Given the description of an element on the screen output the (x, y) to click on. 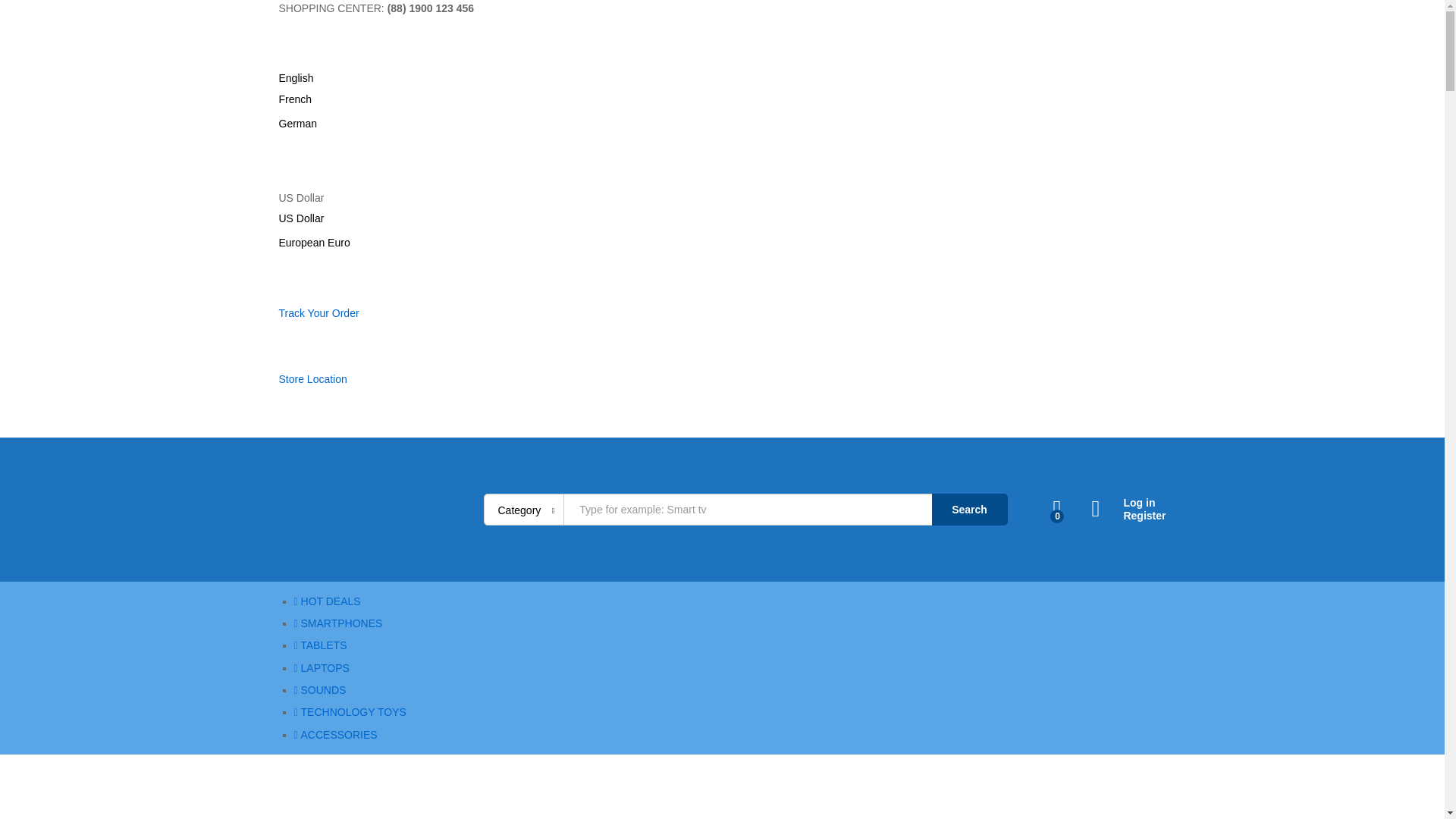
German (298, 123)
ACCESSORIES (335, 734)
Search (969, 509)
Register (1128, 515)
Log in (1128, 502)
TABLETS (320, 645)
English (296, 78)
SOUNDS (320, 689)
US Dollar (301, 218)
Track Your Order (319, 313)
Store Location (313, 378)
HOT DEALS (327, 601)
TECHNOLOGY TOYS (350, 711)
French (296, 99)
LAPTOPS (321, 667)
